Given the description of an element on the screen output the (x, y) to click on. 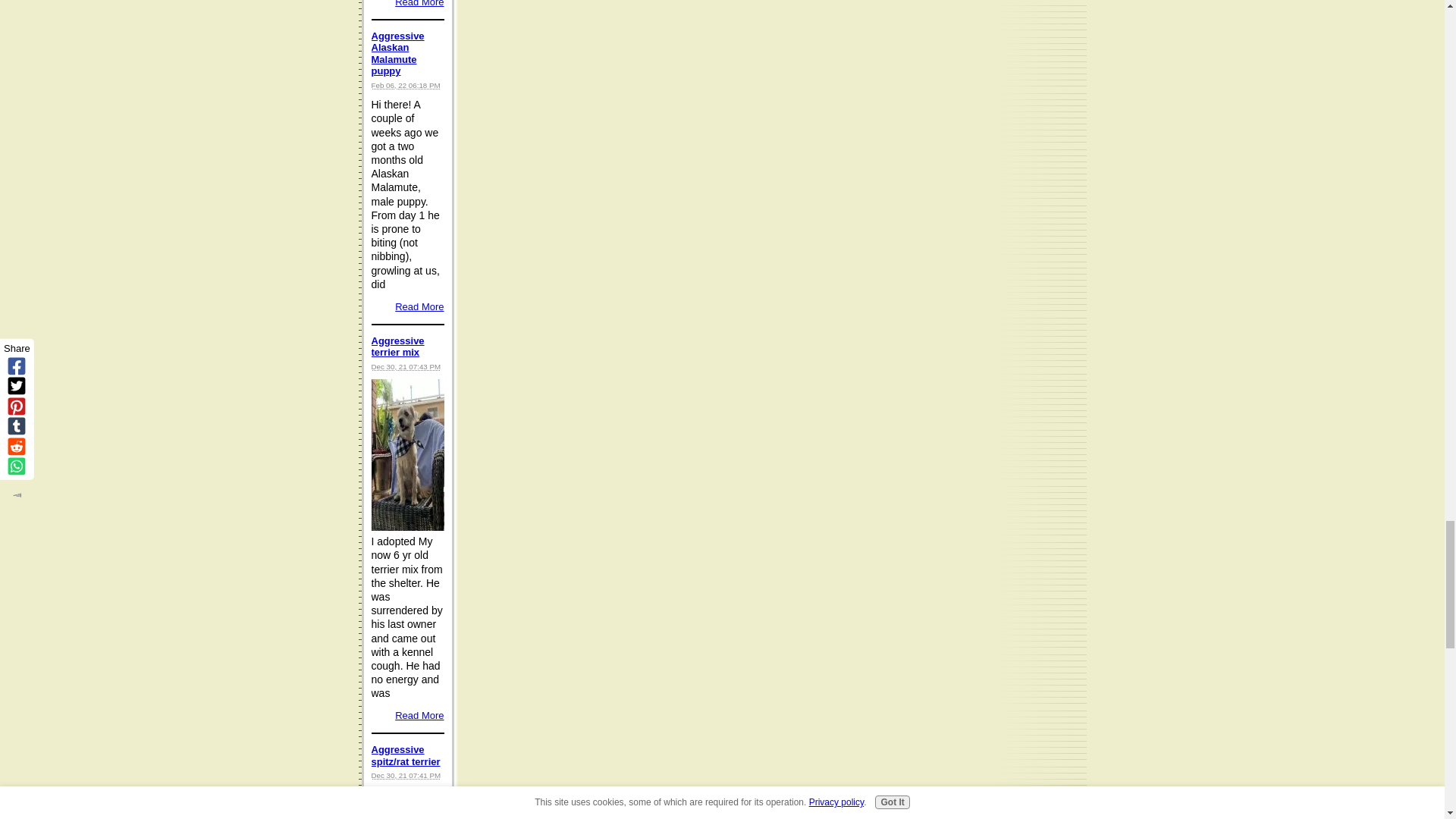
2021-12-30T19:41:58-0500 (406, 775)
2022-02-06T18:18:33-0500 (406, 85)
2021-12-30T19:43:58-0500 (406, 366)
